Given the description of an element on the screen output the (x, y) to click on. 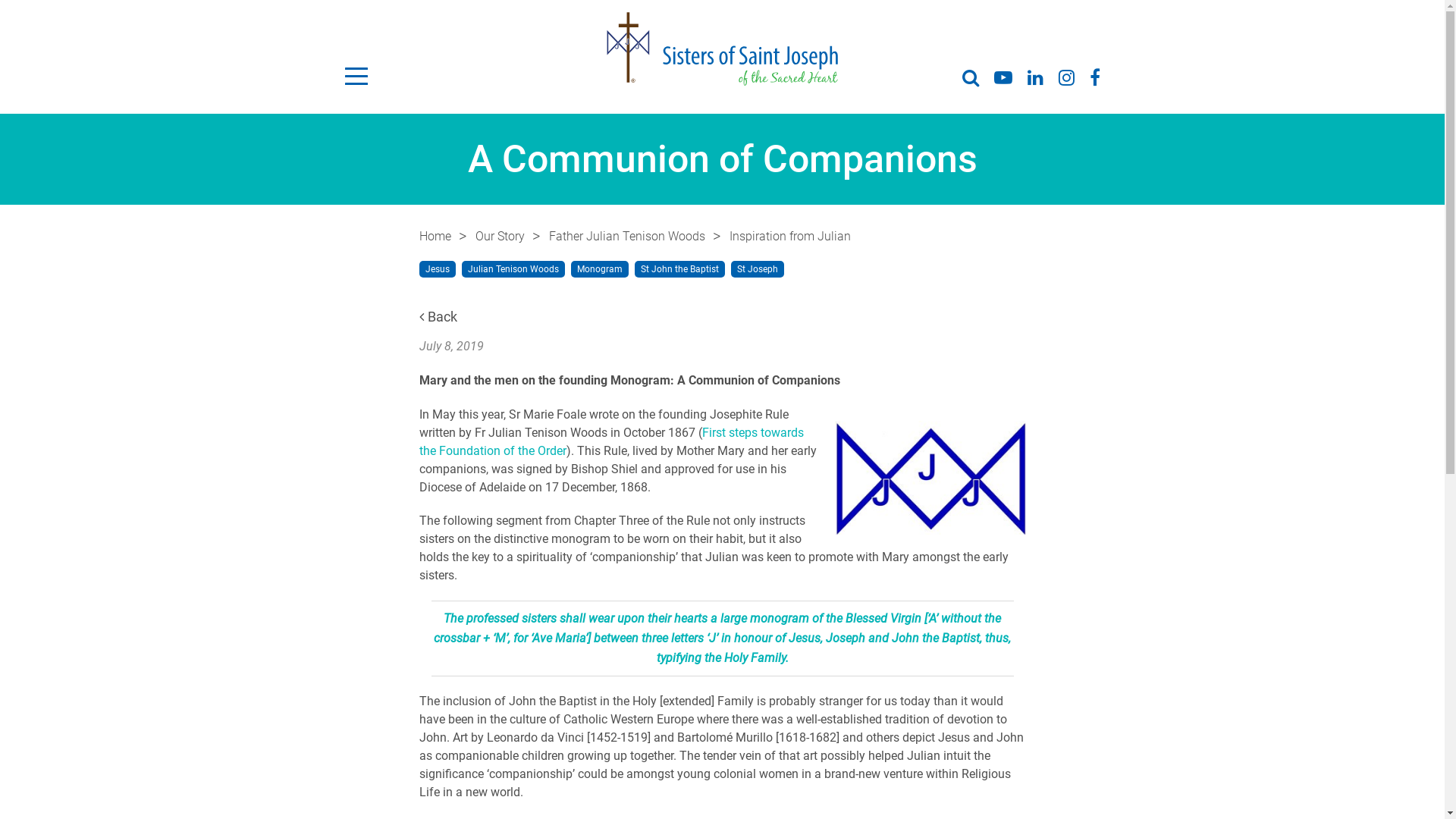
Monogram Element type: text (598, 268)
Father Julian Tenison Woods Element type: text (627, 236)
Home Element type: text (434, 236)
First steps towards the Foundation of the Order Element type: text (610, 441)
Inspiration from Julian Element type: text (789, 236)
St Joseph Element type: text (757, 268)
St John the Baptist Element type: text (678, 268)
Back Element type: text (437, 316)
Jesus Element type: text (436, 268)
Julian Tenison Woods Element type: text (512, 268)
Our Story Element type: text (499, 236)
